Given the description of an element on the screen output the (x, y) to click on. 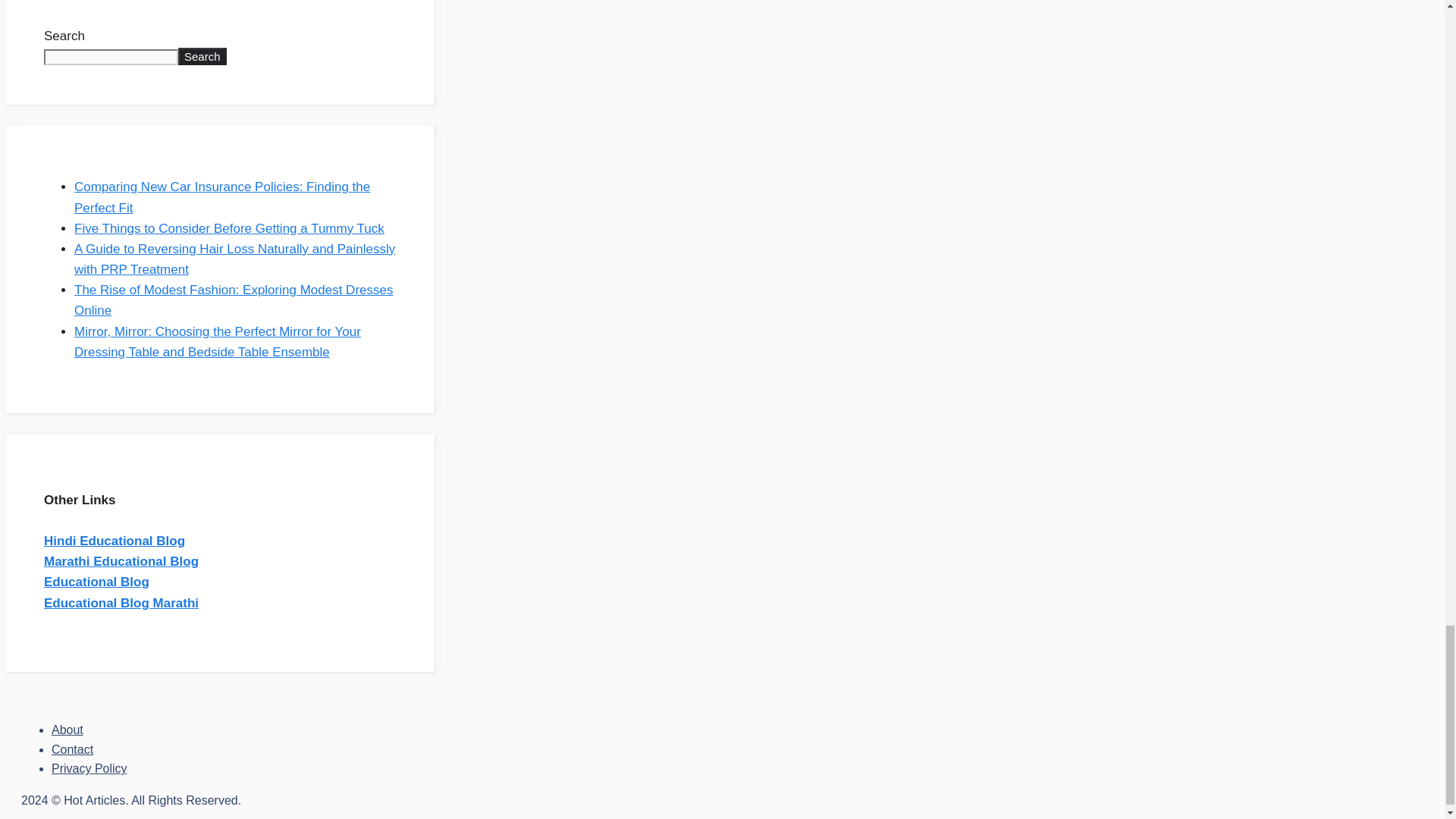
Marathi Educational Blog (120, 561)
Search (202, 56)
Five Things to Consider Before Getting a Tummy Tuck (229, 228)
Hindi Educational Blog (113, 540)
The Rise of Modest Fashion: Exploring Modest Dresses Online (233, 299)
